Given the description of an element on the screen output the (x, y) to click on. 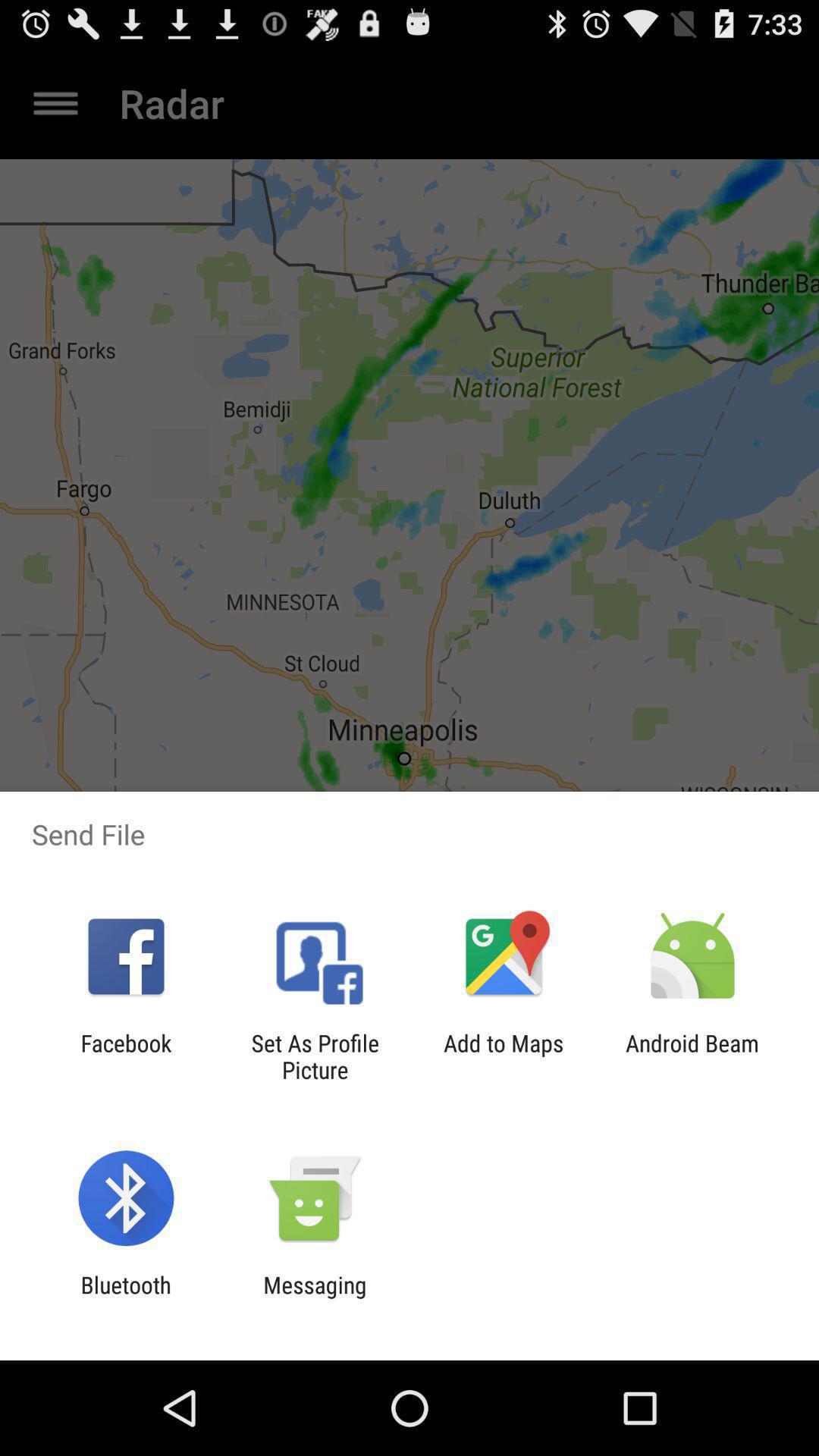
jump until the add to maps app (503, 1056)
